Given the description of an element on the screen output the (x, y) to click on. 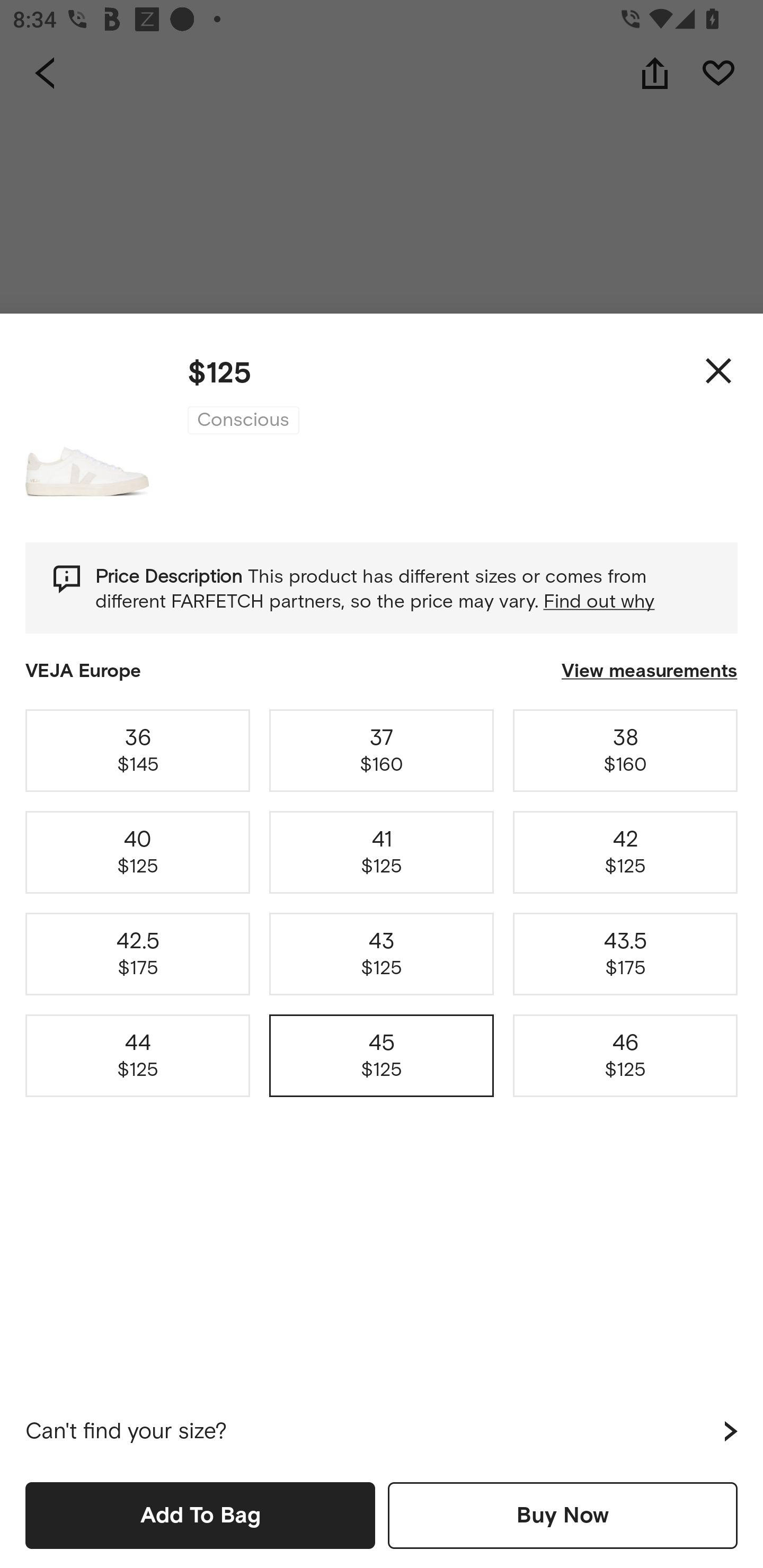
36 $145 (137, 749)
37 $160 (381, 749)
38 $160 (624, 749)
40 $125 (137, 851)
41 $125 (381, 851)
42 $125 (624, 851)
42.5 $175 (137, 953)
43 $125 (381, 953)
43.5 $175 (624, 953)
44 $125 (137, 1055)
45 $125 (381, 1055)
46 $125 (624, 1055)
Can't find your size? (381, 1431)
Add To Bag (200, 1515)
Buy Now (562, 1515)
